Given the description of an element on the screen output the (x, y) to click on. 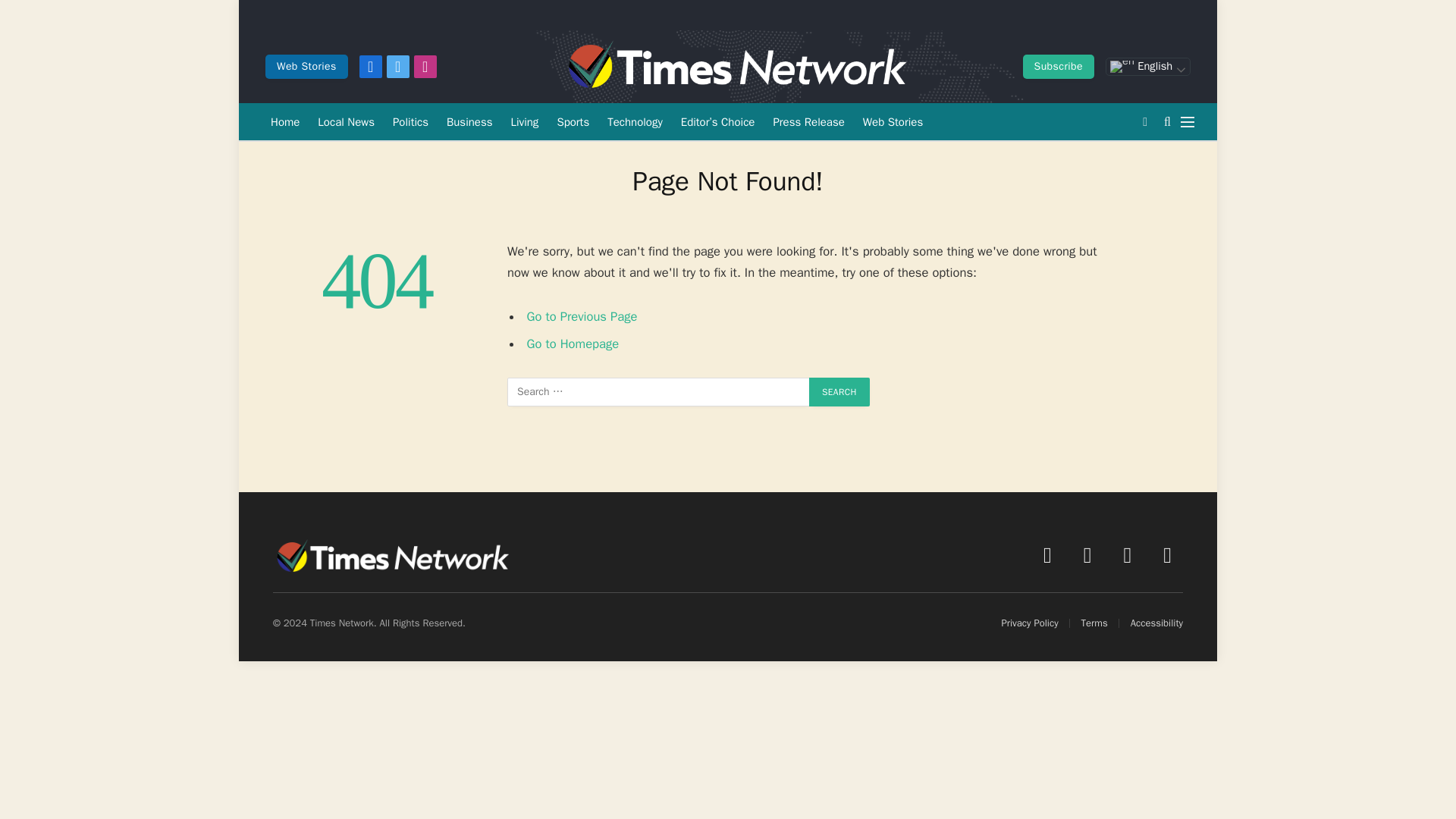
Facebook (370, 66)
Search (839, 391)
Search (839, 391)
Switch to Dark Design - easier on eyes. (1144, 121)
Times Network (735, 66)
Home (285, 121)
Web Stories (305, 66)
Instagram (424, 66)
English (1148, 66)
Subscribe (1058, 66)
